Given the description of an element on the screen output the (x, y) to click on. 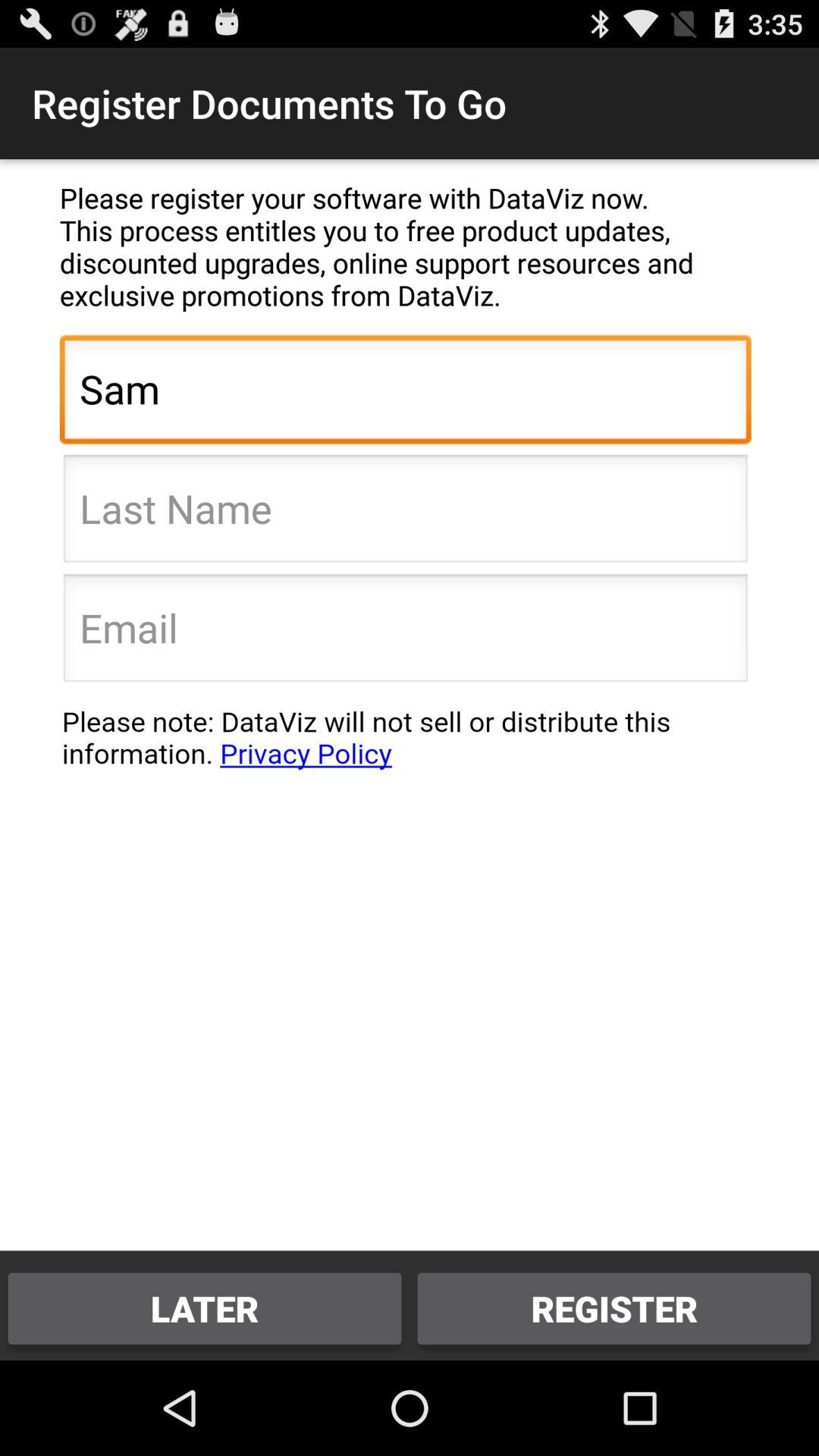
enter lastname for register (405, 512)
